Given the description of an element on the screen output the (x, y) to click on. 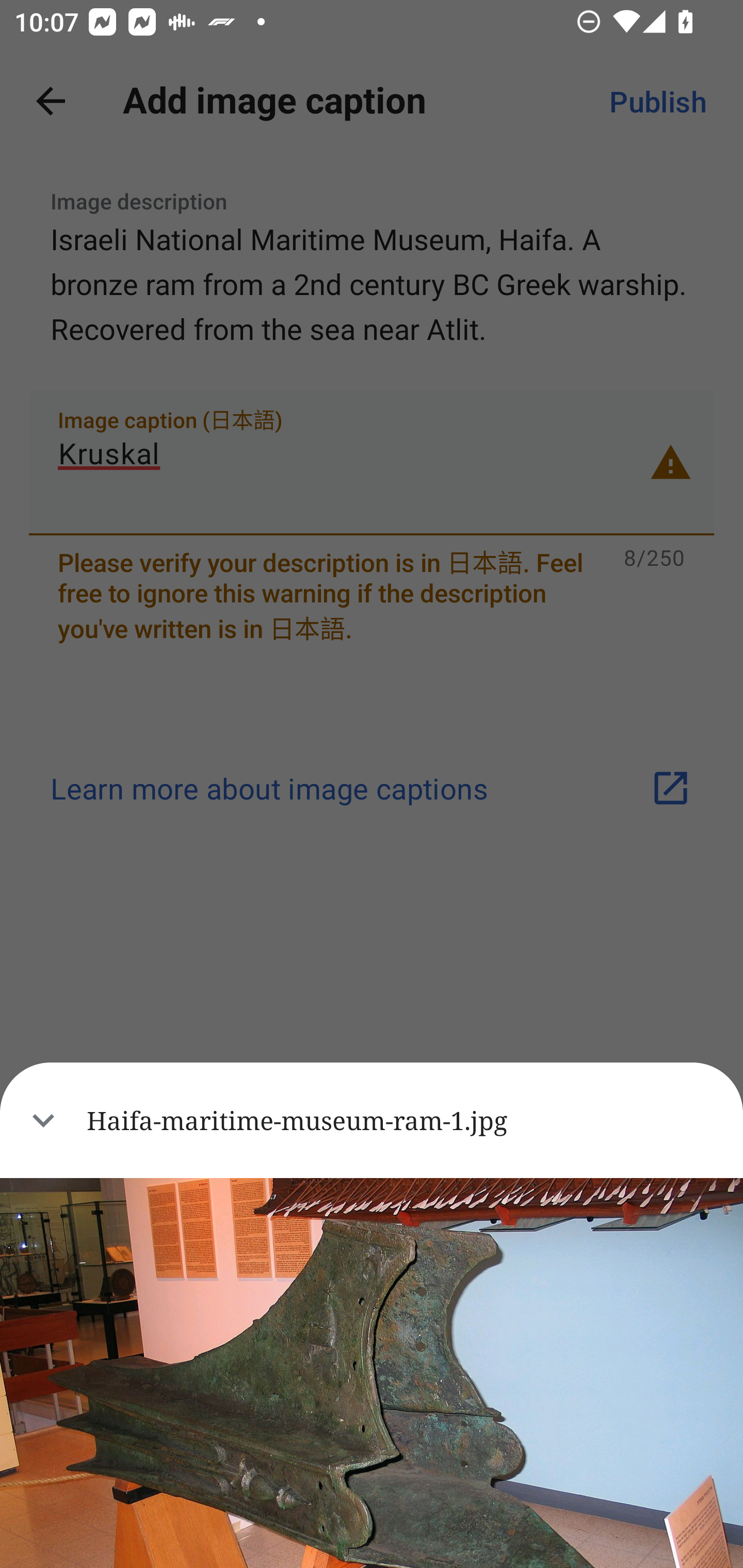
Haifa-maritime-museum-ram-1.jpg (371, 1120)
